Given the description of an element on the screen output the (x, y) to click on. 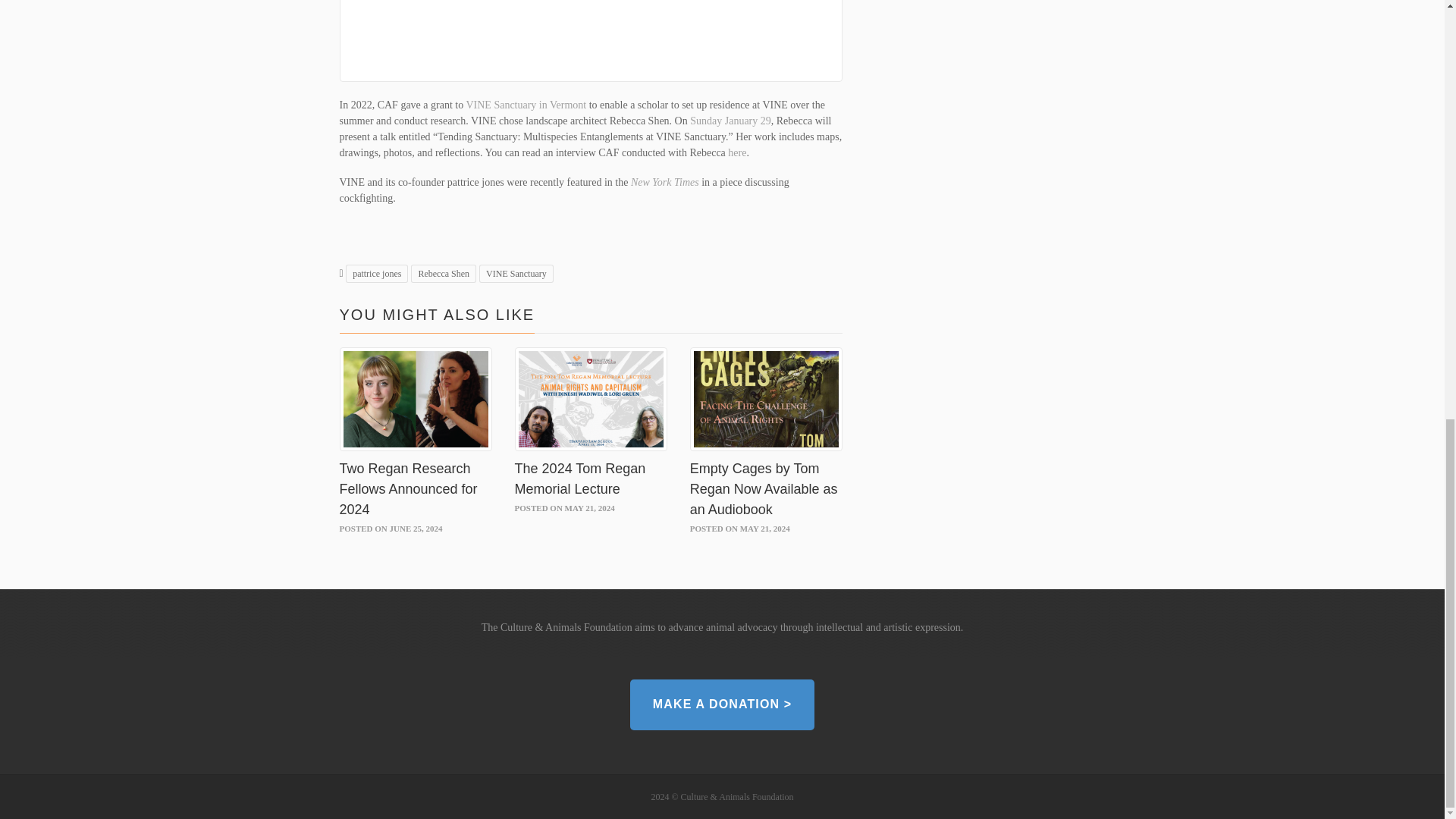
pattrice jones (376, 273)
VINE Sanctuary in Vermont (525, 104)
Sunday January 29 (730, 120)
New York Times (664, 182)
here (736, 152)
Rebecca Shen (443, 273)
